Given the description of an element on the screen output the (x, y) to click on. 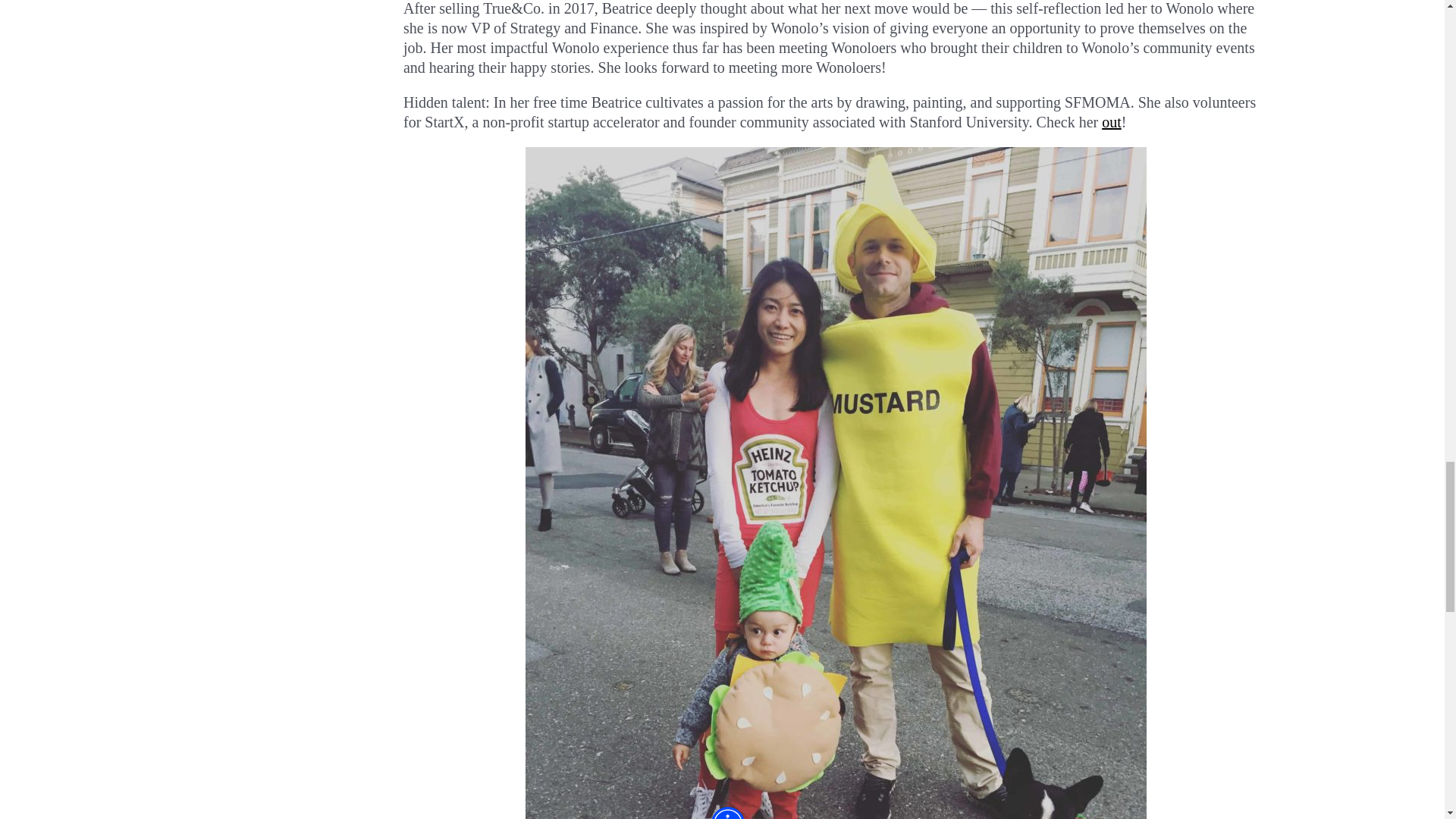
out (1111, 121)
